Given the description of an element on the screen output the (x, y) to click on. 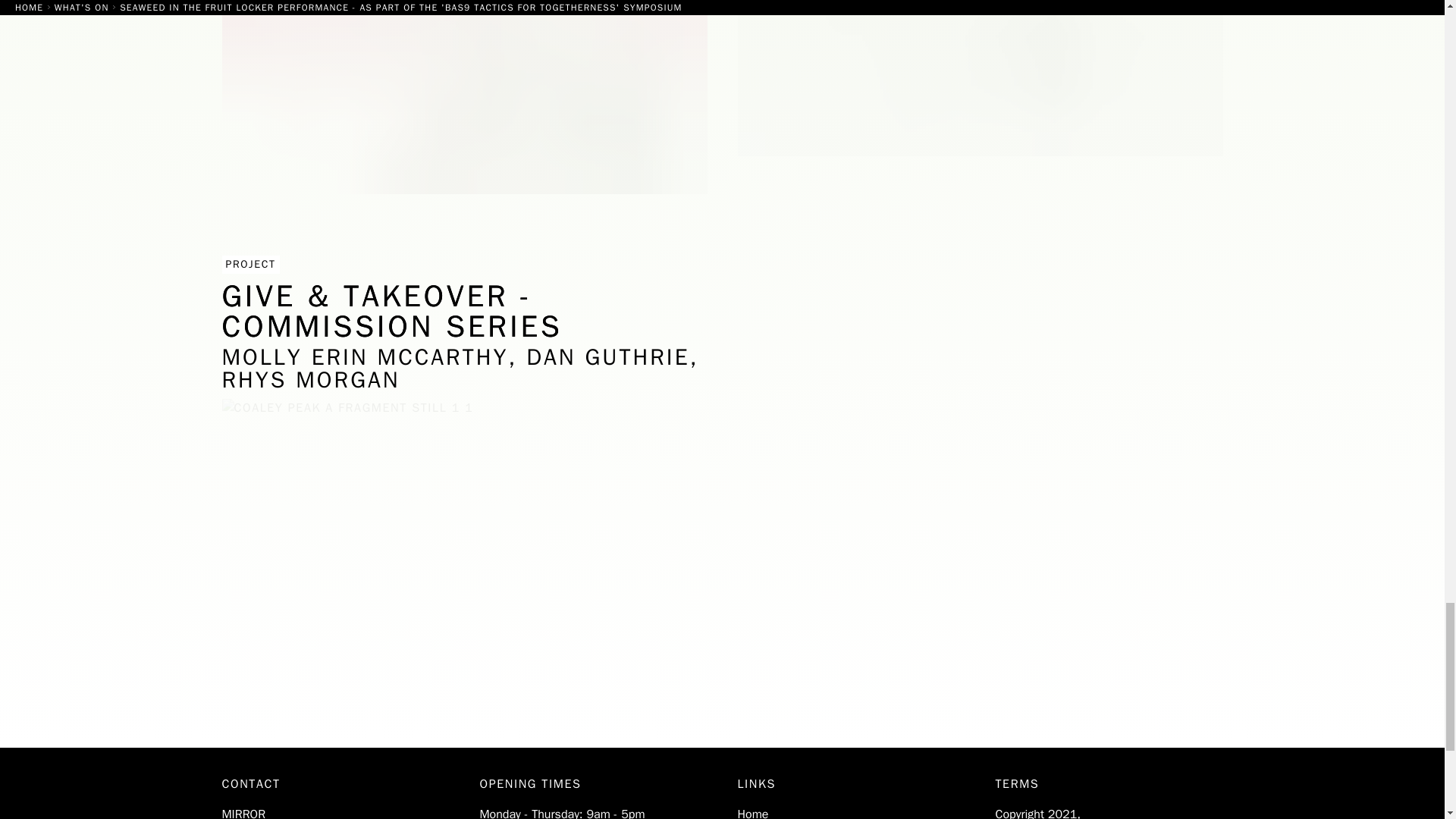
British Art Show 9 (979, 97)
Home (752, 812)
